Given the description of an element on the screen output the (x, y) to click on. 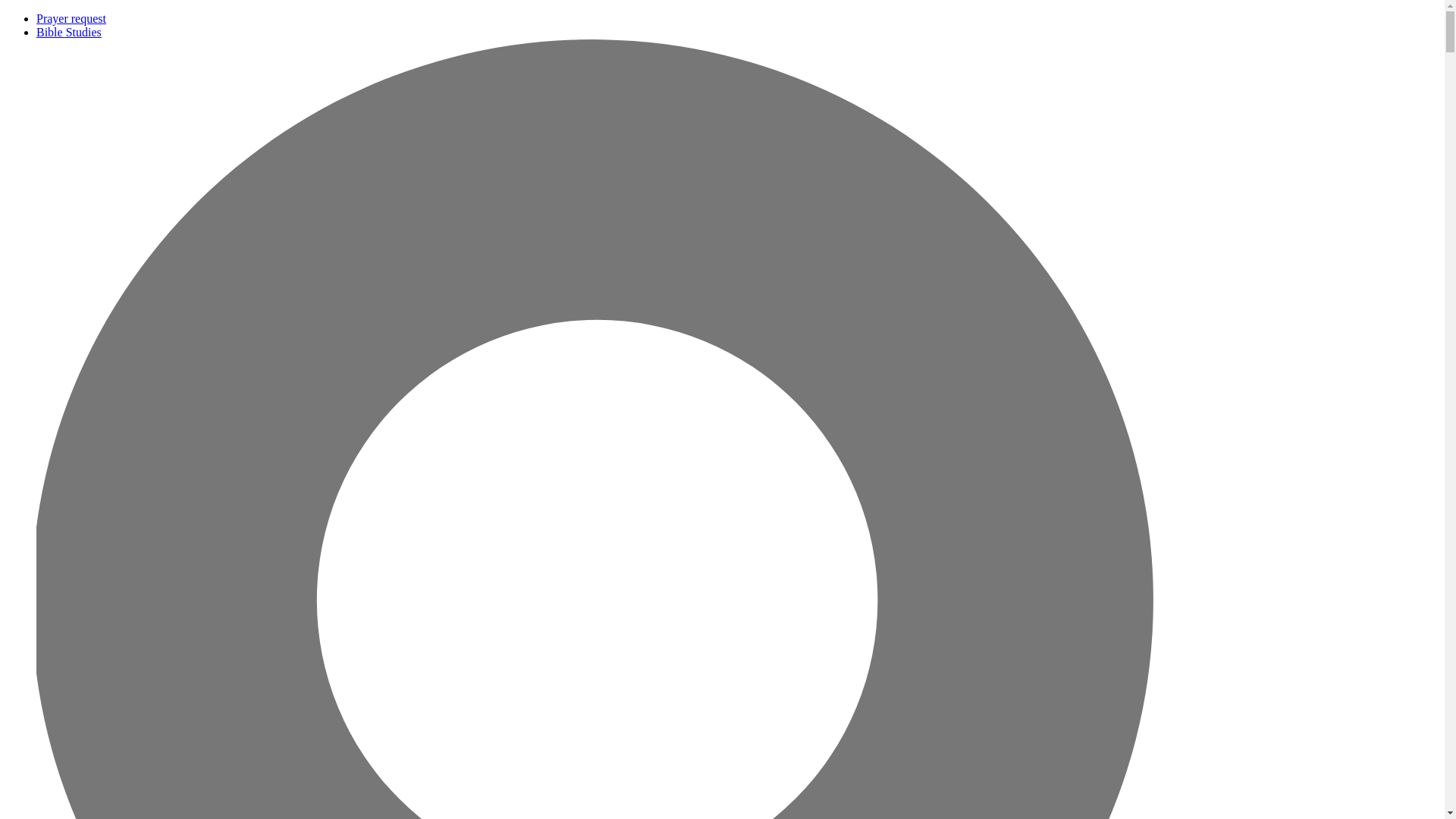
Prayer request (71, 18)
Bible Studies (68, 31)
